Given the description of an element on the screen output the (x, y) to click on. 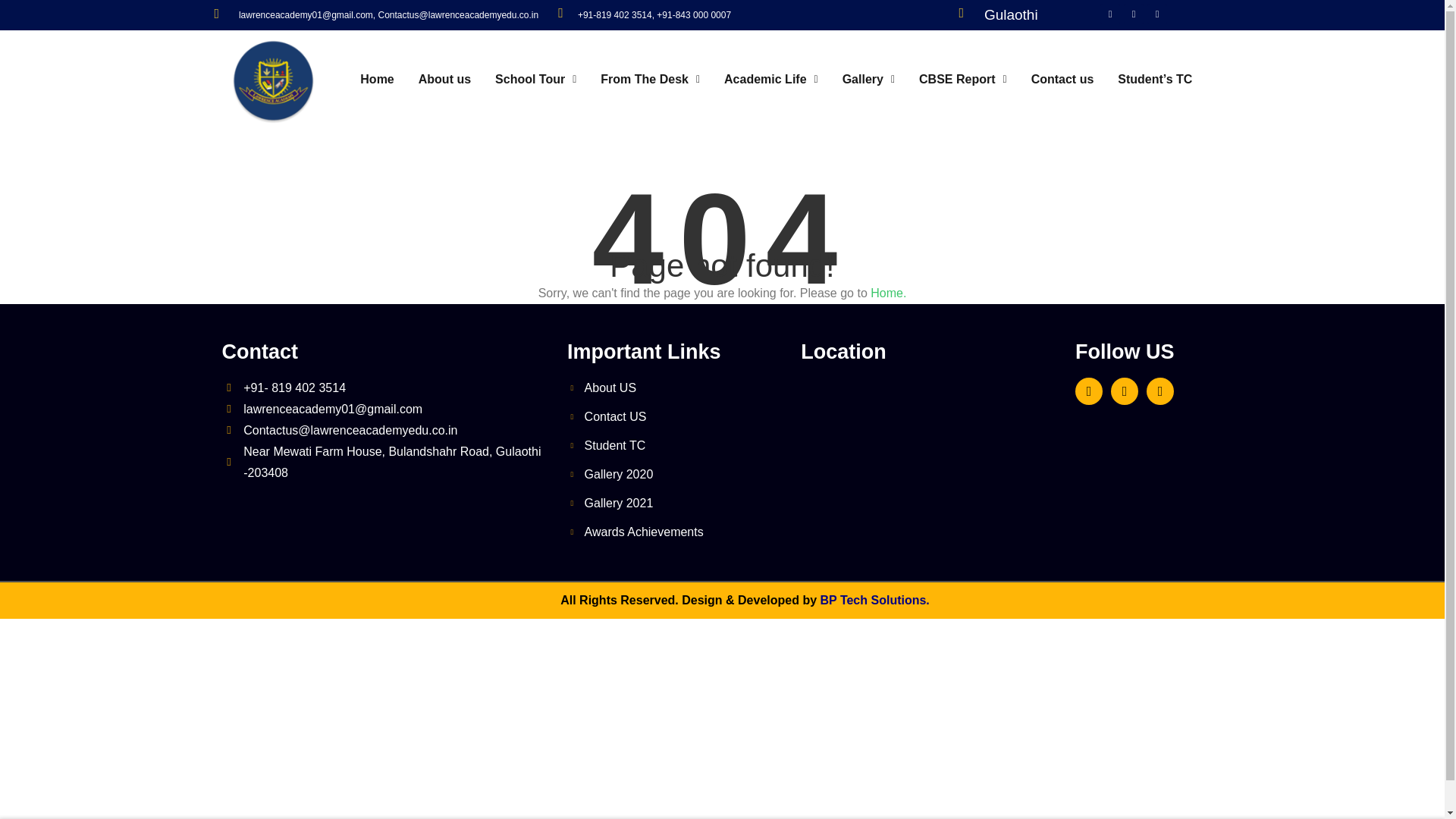
From The Desk (649, 79)
Lawrence academy, Gulaothi (929, 447)
Home (376, 79)
CBSE Report (963, 79)
Gallery (868, 79)
Academic Life (770, 79)
About us (444, 79)
Gulaothi (1011, 14)
School Tour (535, 79)
